Given the description of an element on the screen output the (x, y) to click on. 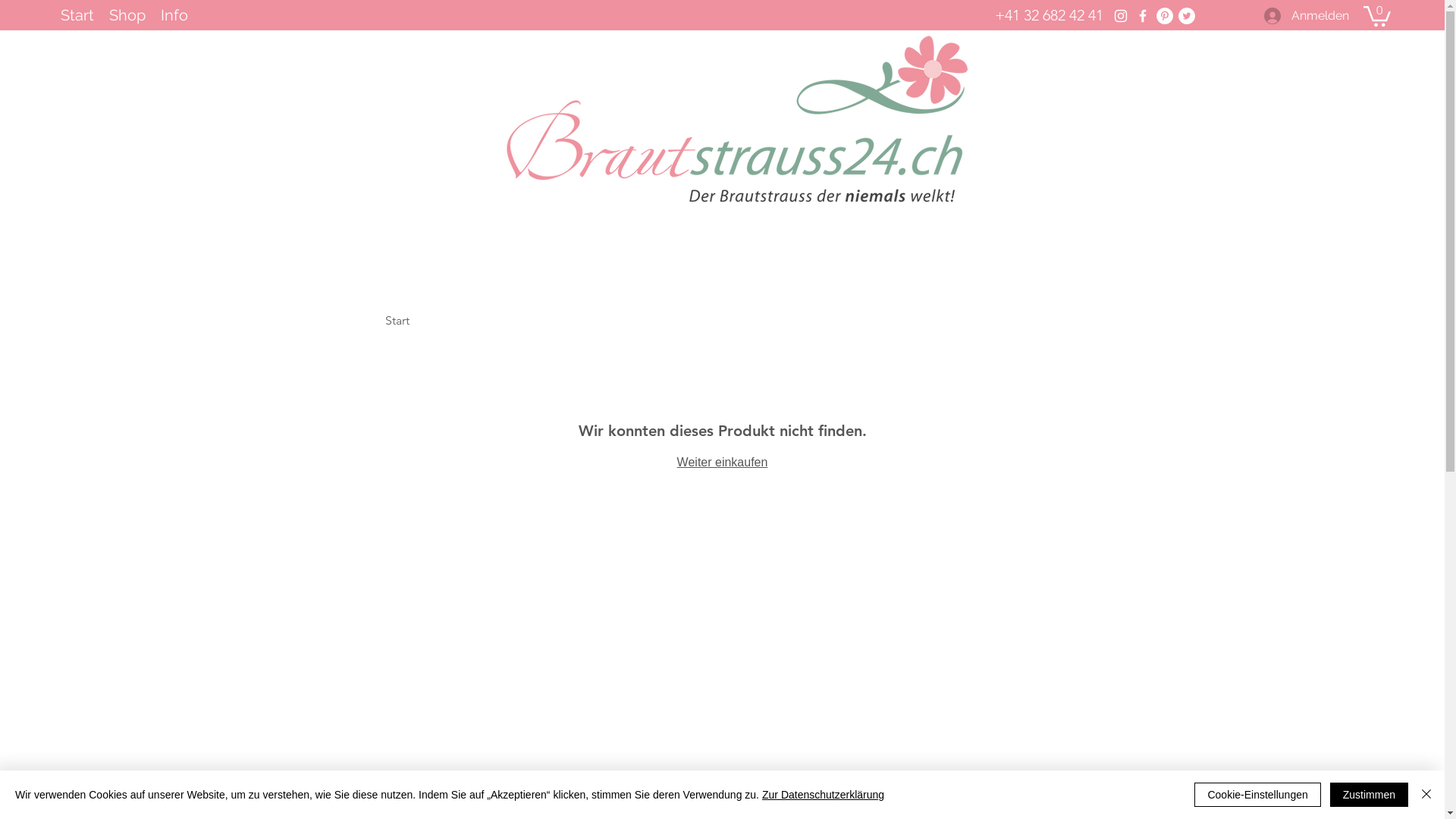
Cookie-Einstellungen Element type: text (1257, 794)
Shop Element type: text (127, 14)
Start Element type: text (77, 14)
Zustimmen Element type: text (1369, 794)
Brautstrauss24 Element type: hover (735, 120)
Start Element type: text (397, 320)
Weiter einkaufen Element type: text (722, 461)
0 Element type: text (1376, 14)
Anmelden Element type: text (1306, 15)
